Given the description of an element on the screen output the (x, y) to click on. 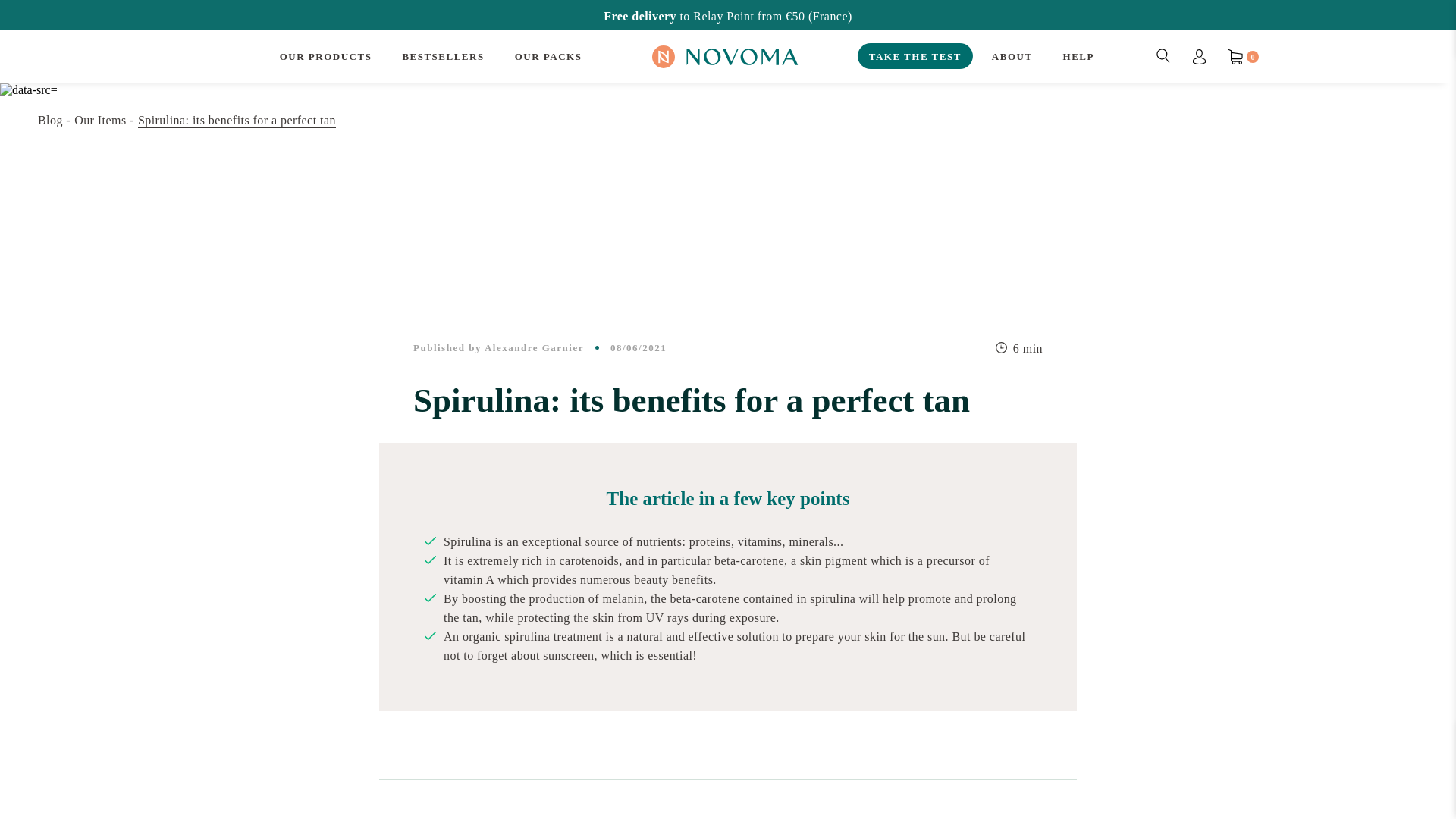
Accueil (103, 119)
Accueil (53, 119)
OUR PRODUCTS (325, 56)
BESTSELLERS (442, 56)
